Given the description of an element on the screen output the (x, y) to click on. 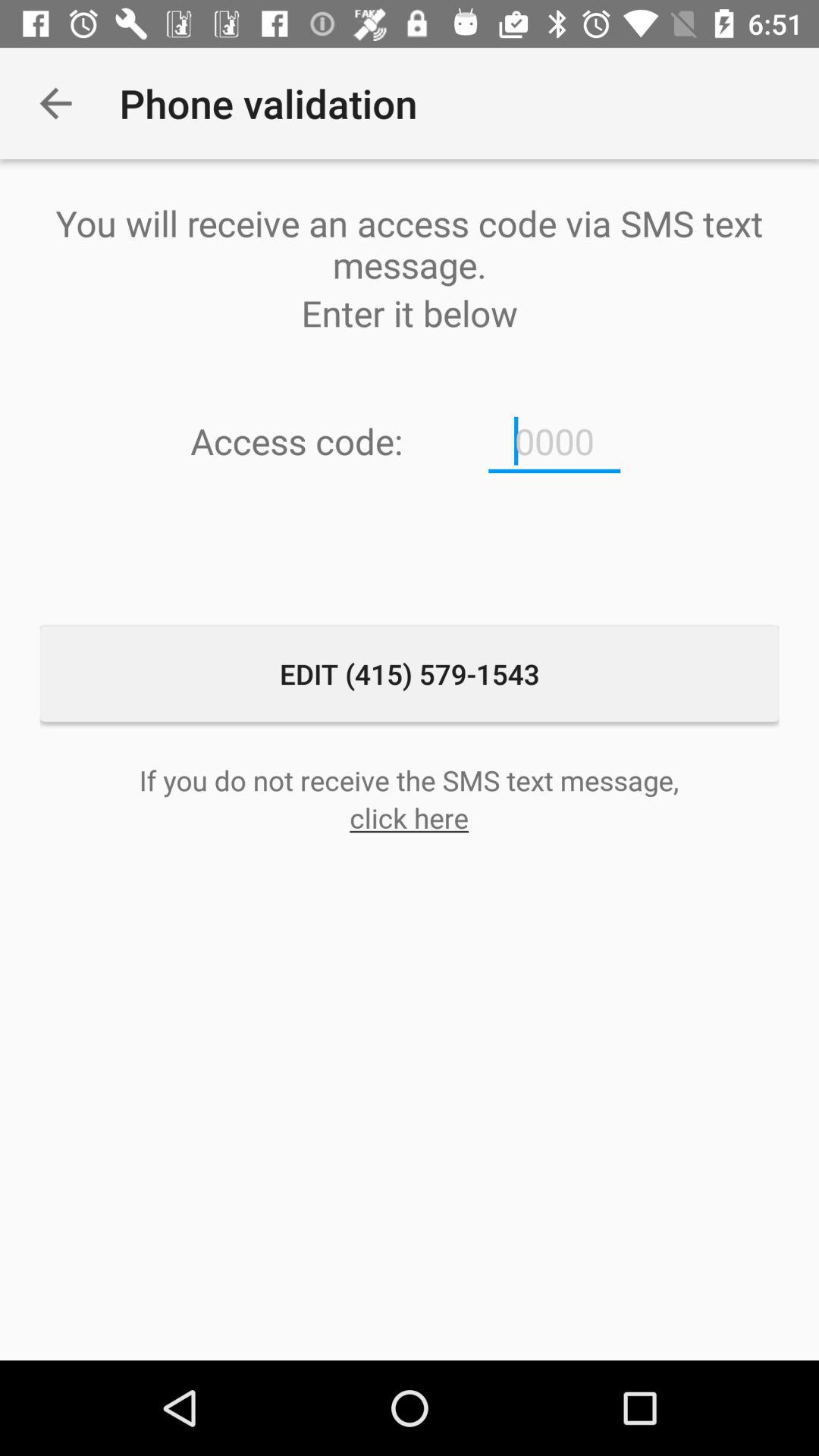
turn on the icon at the top right corner (554, 441)
